Given the description of an element on the screen output the (x, y) to click on. 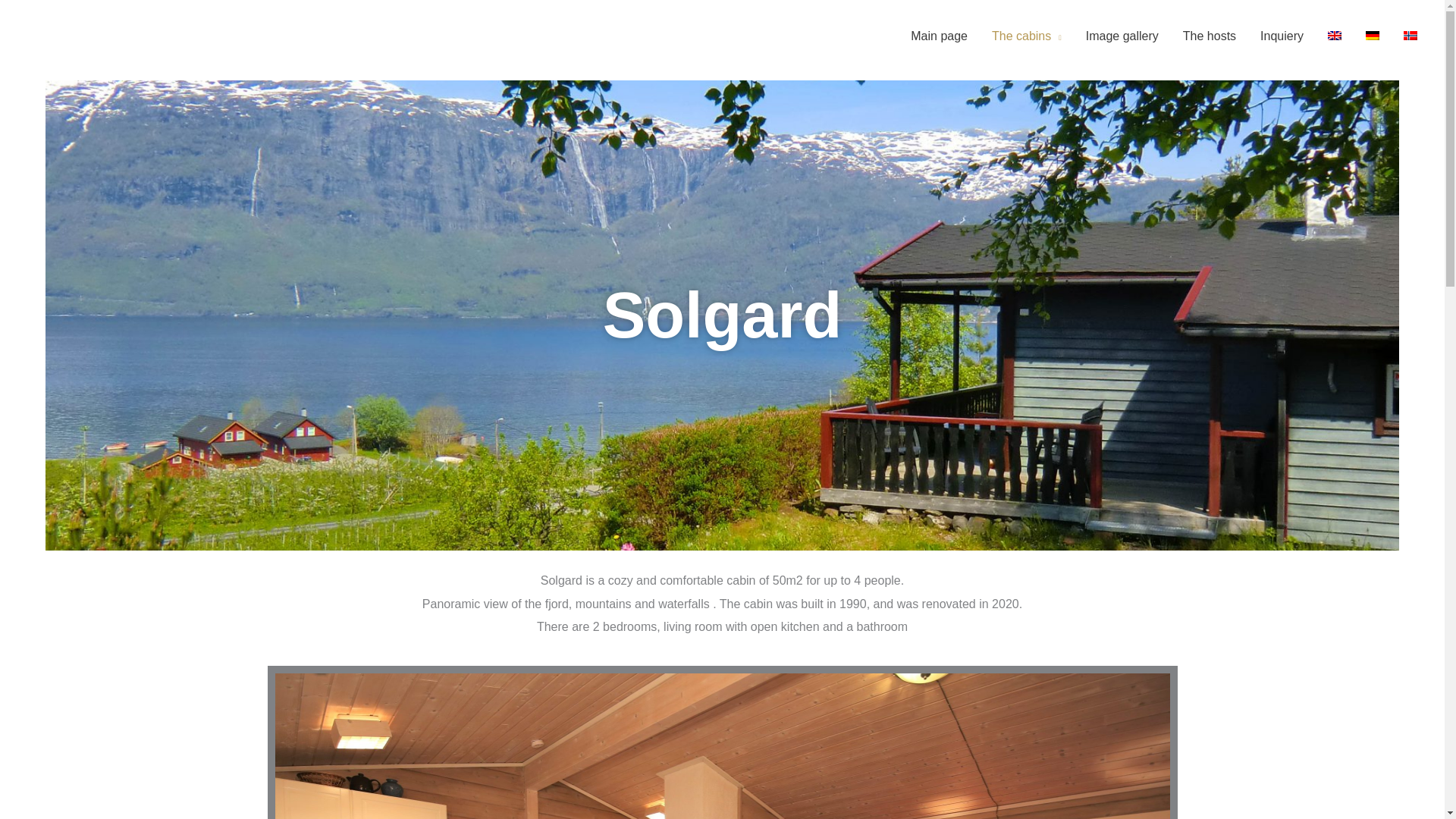
The hosts (1208, 36)
Main page (938, 36)
The cabins (1026, 36)
Inquiery (1281, 36)
Image gallery (1122, 36)
